Given the description of an element on the screen output the (x, y) to click on. 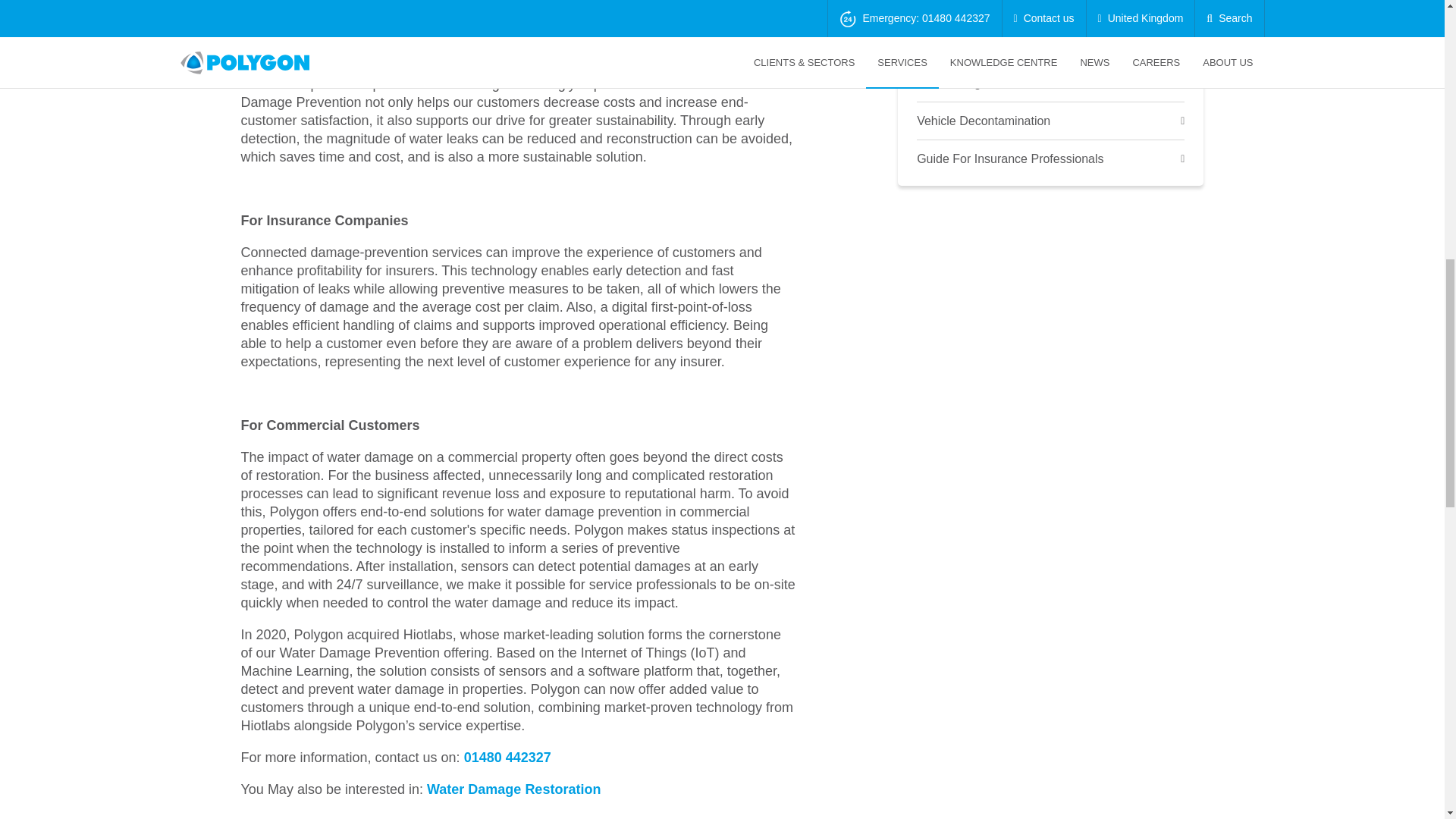
Flooding and Water Damage (1051, 13)
Free expert guide on flooding (1051, 45)
Download guide (1051, 83)
